Given the description of an element on the screen output the (x, y) to click on. 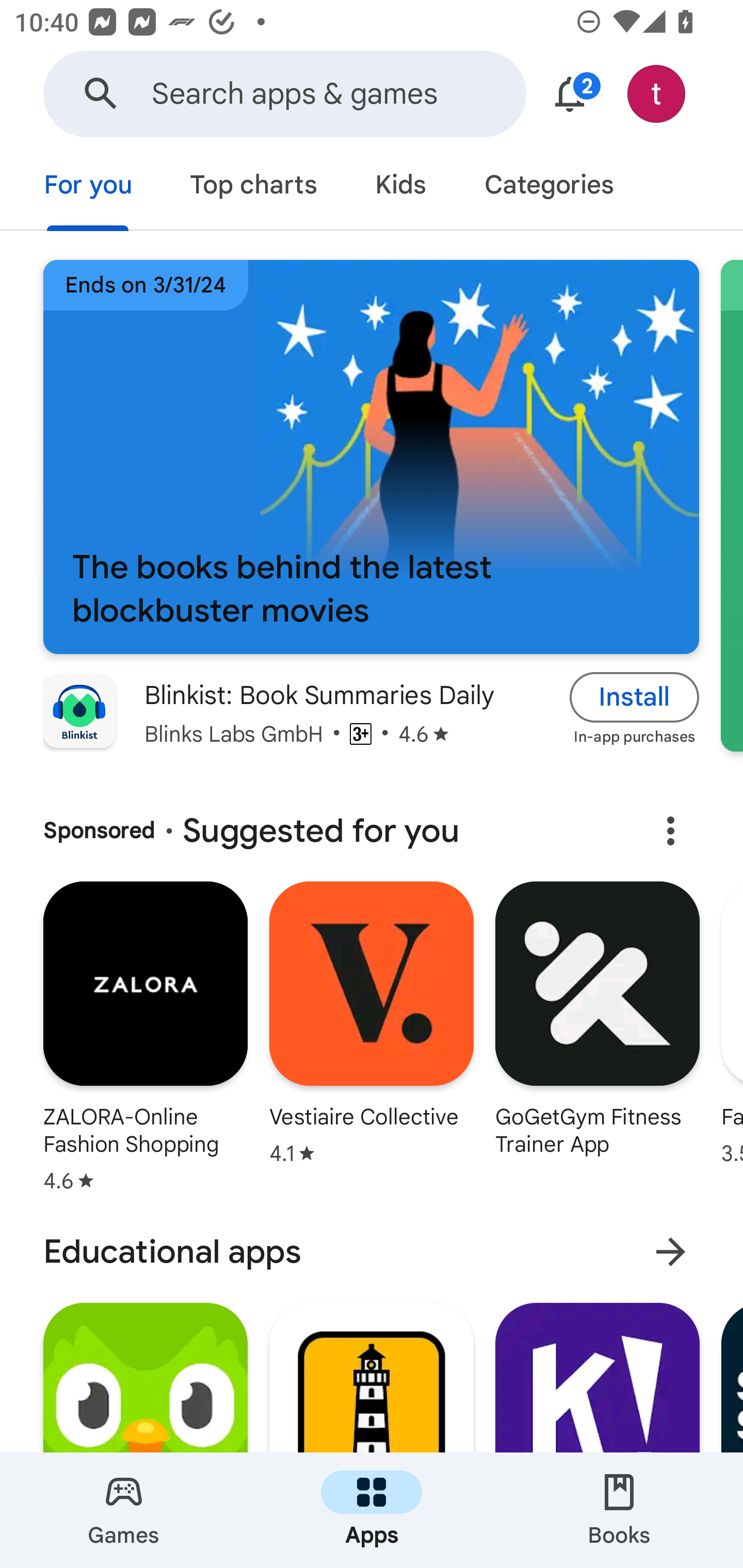
Search Google Play Search apps & games (284, 93)
Search Google Play (100, 93)
Top charts (253, 187)
Kids (400, 187)
Categories (548, 187)
Install (634, 696)
About this ad (670, 830)
ZALORA-Online Fashion Shopping
Star rating: 4.6
 (145, 1041)
Vestiaire Collective
Star rating: 4.1
 (371, 1041)
GoGetGym Fitness Trainer App
 (597, 1041)
Educational apps More results for Educational apps (371, 1252)
More results for Educational apps (670, 1251)
Games (123, 1509)
Books (619, 1509)
